Given the description of an element on the screen output the (x, y) to click on. 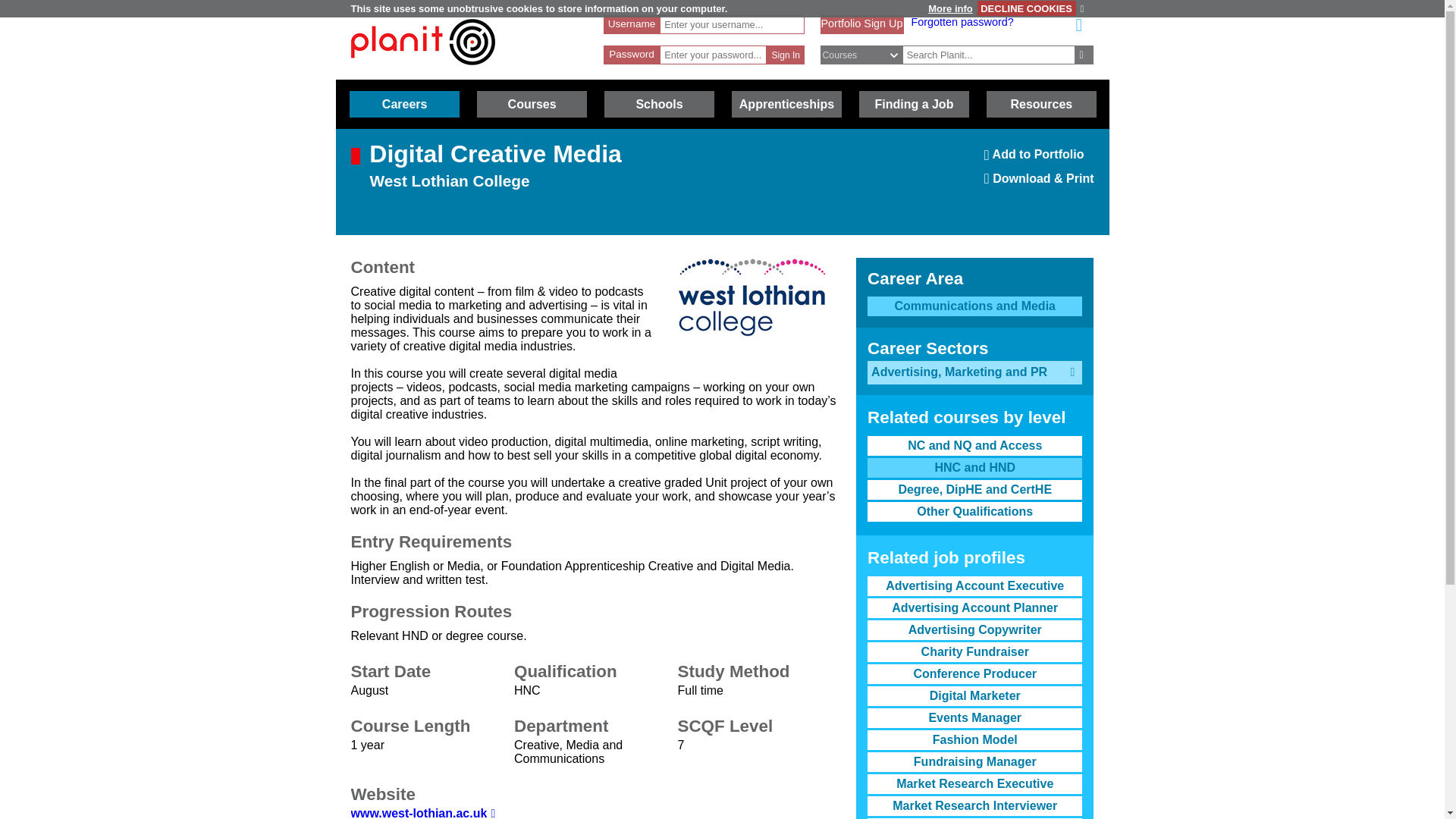
www.west-lothian.ac.uk (422, 812)
Select search type (869, 54)
DECLINE COOKIES (1039, 159)
Planit (1025, 7)
Sign In (422, 41)
Careers (786, 54)
Portfolio Sign Up (404, 103)
Resources (861, 23)
Enter text to search Planit (1041, 103)
Search (988, 54)
HNC and HND (1084, 54)
Planit Home (974, 467)
Sign In (422, 72)
Communications and Media (786, 54)
